Given the description of an element on the screen output the (x, y) to click on. 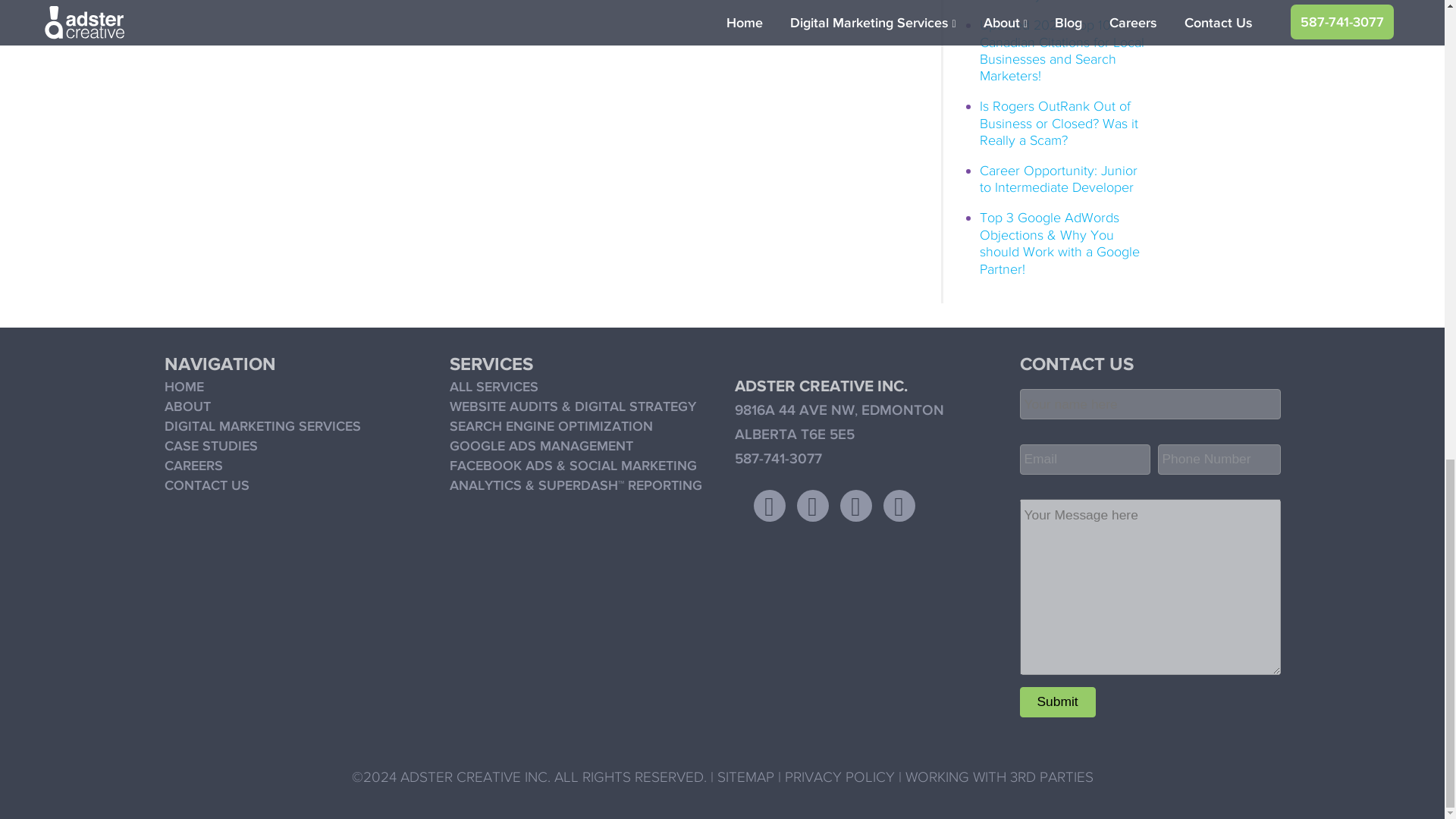
Email (1084, 459)
Submit (1056, 702)
Phone Number (1218, 459)
